Given the description of an element on the screen output the (x, y) to click on. 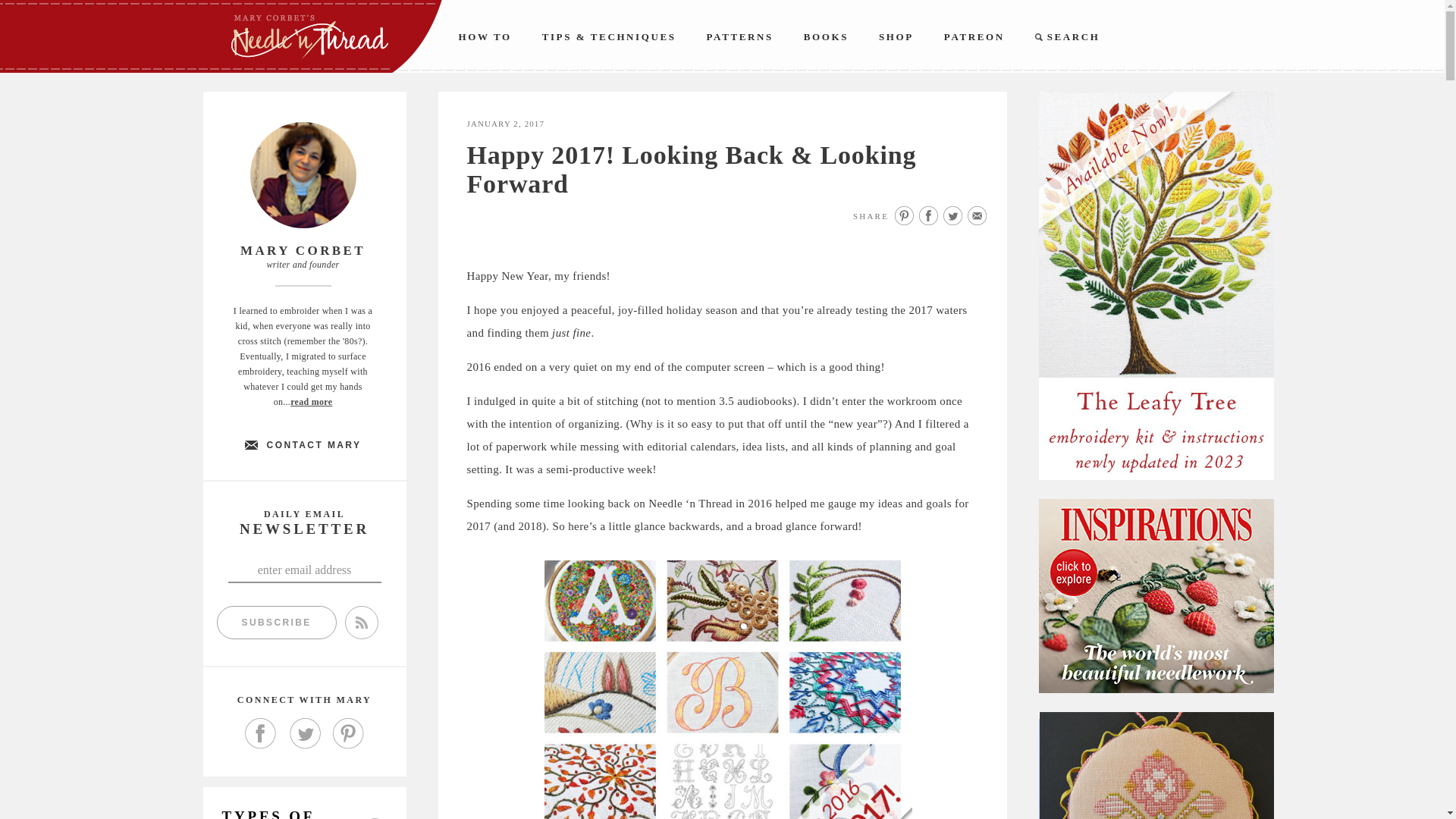
Connect with Mary on Facebook (260, 734)
Follow Mary on Twitter (304, 734)
News Signup (303, 570)
PATTERNS (740, 36)
BOOKS (826, 36)
Follow Mary on Pinterest (347, 734)
 SEARCH (1067, 36)
PATREON (974, 36)
HOW TO (483, 36)
